Given the description of an element on the screen output the (x, y) to click on. 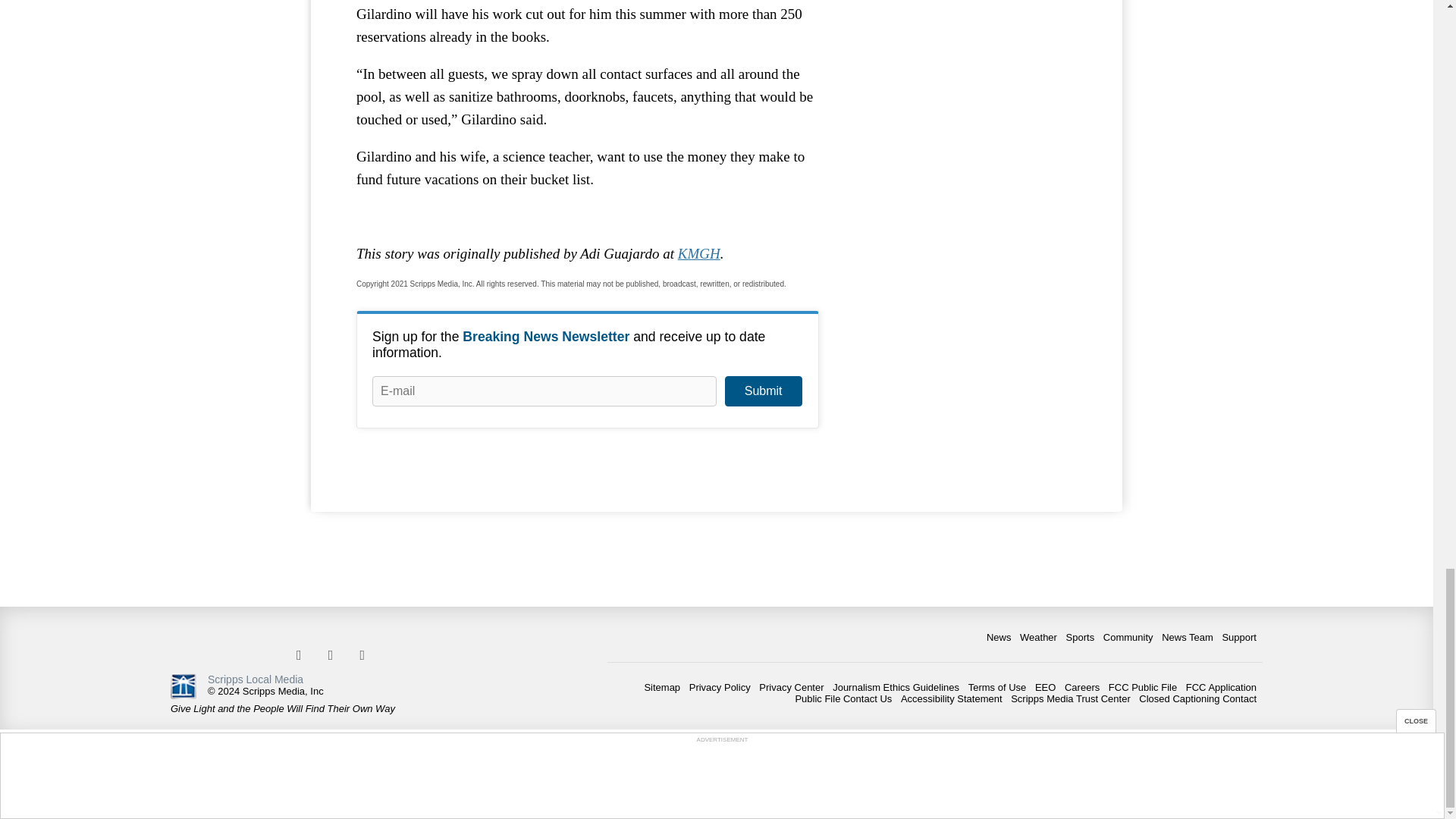
Submit (763, 390)
